Given the description of an element on the screen output the (x, y) to click on. 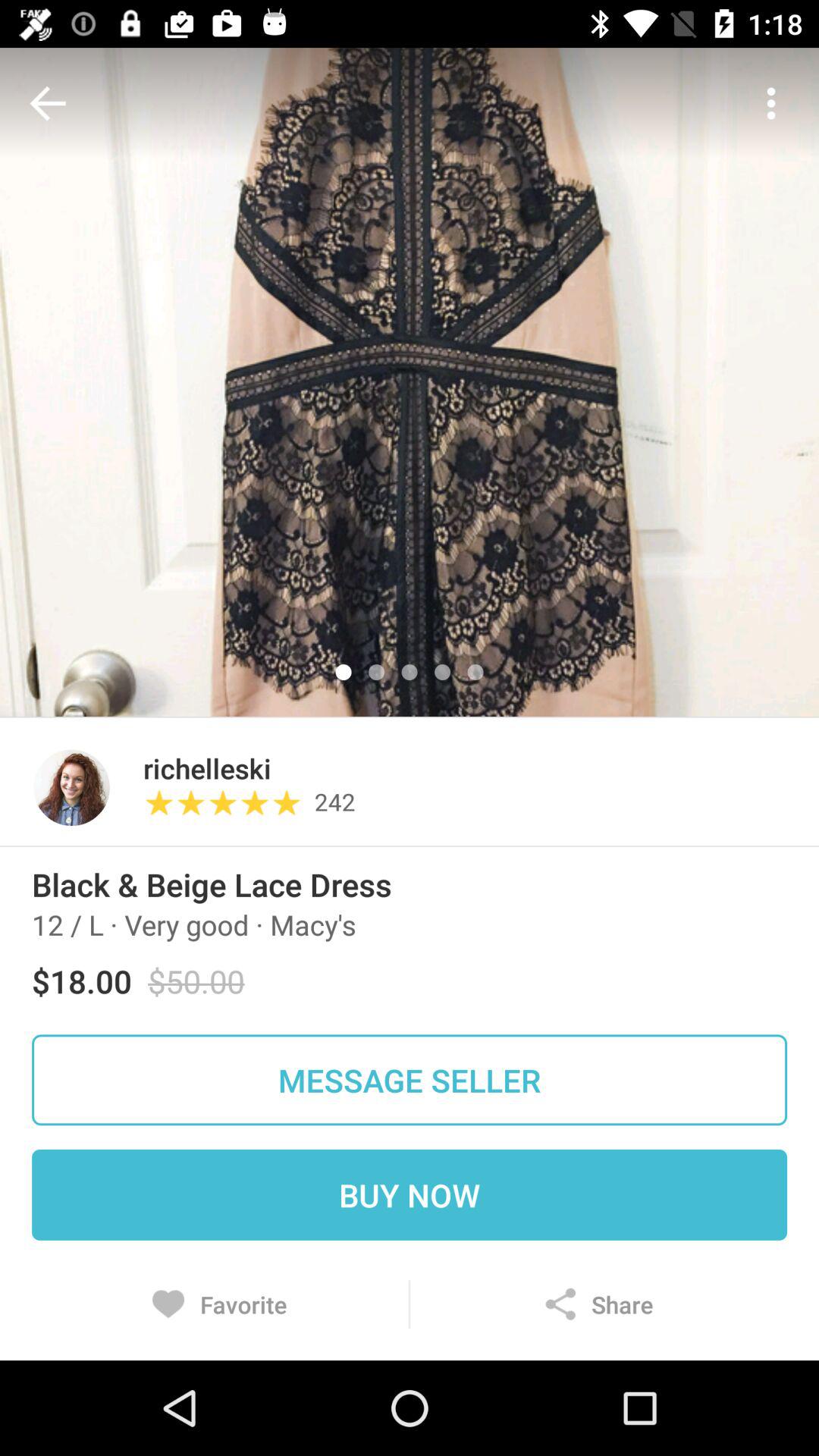
turn off the message seller (409, 1079)
